Given the description of an element on the screen output the (x, y) to click on. 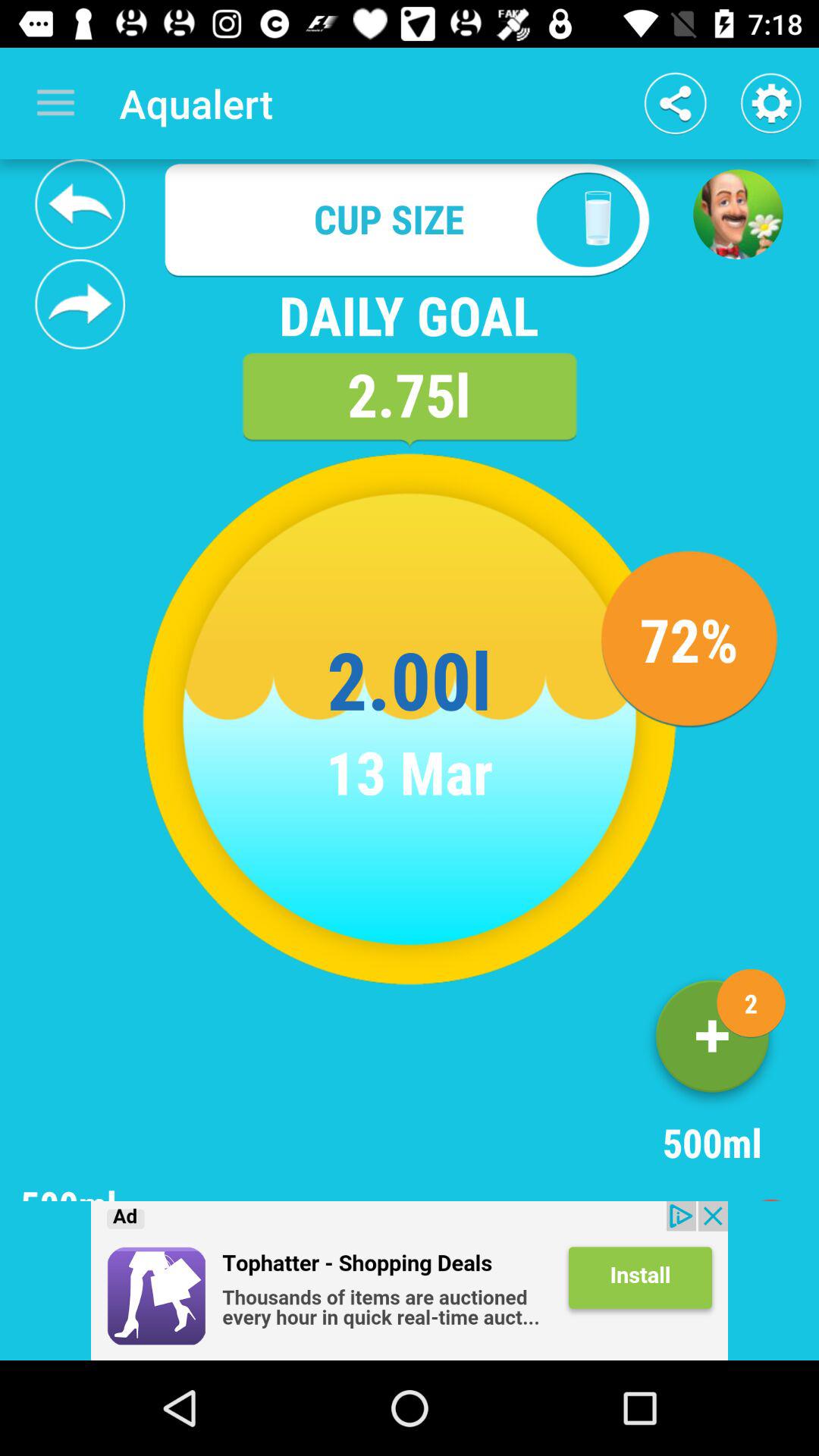
close the add (409, 1280)
